Given the description of an element on the screen output the (x, y) to click on. 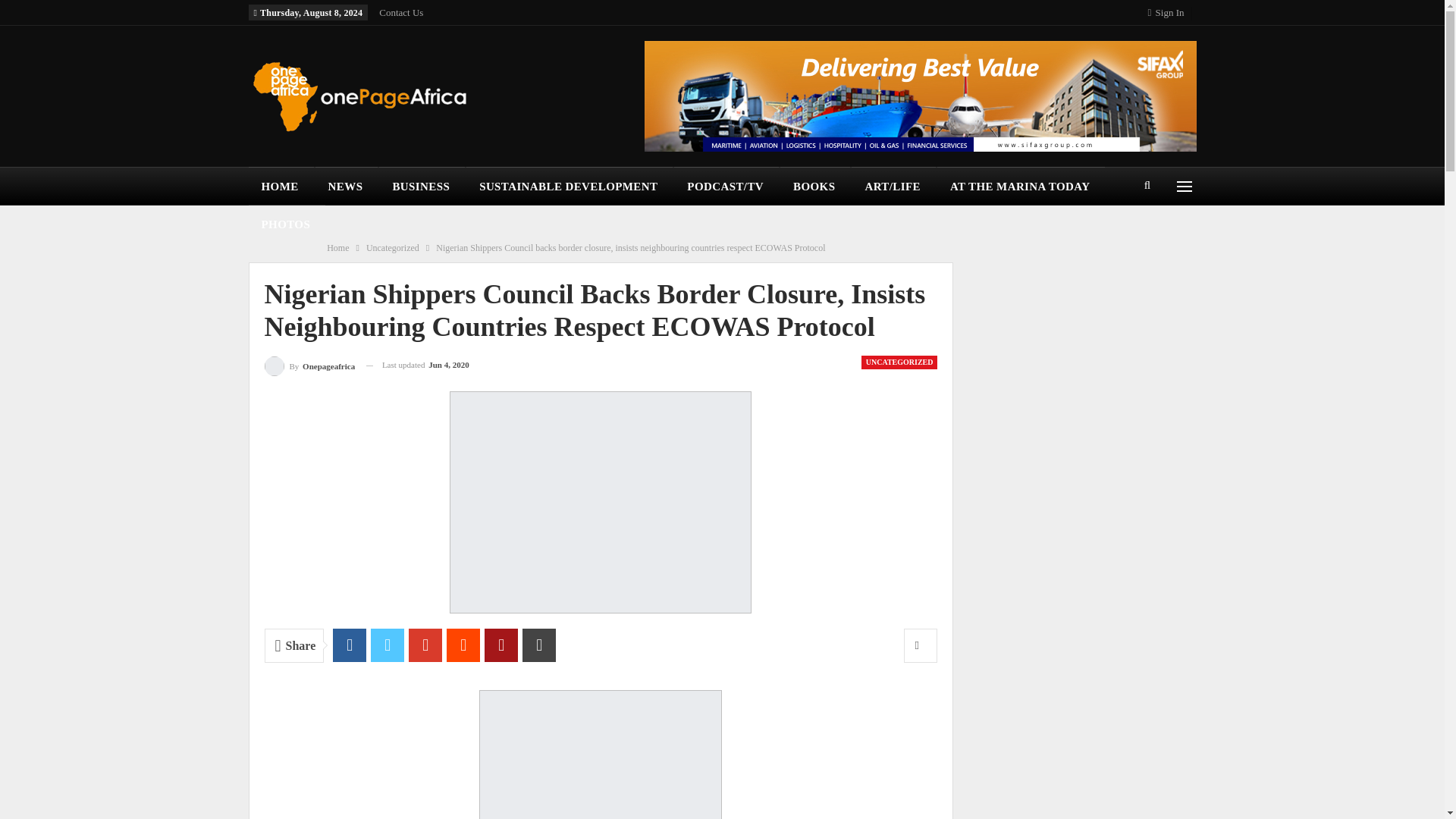
Contact Us (400, 12)
By Onepageafrica (309, 364)
HOME (281, 186)
NEWS (346, 186)
Browse Author Articles (309, 364)
Sign In (1169, 12)
AT THE MARINA TODAY (1021, 186)
Uncategorized (392, 247)
SUSTAINABLE DEVELOPMENT (568, 186)
PHOTOS (287, 224)
